Given the description of an element on the screen output the (x, y) to click on. 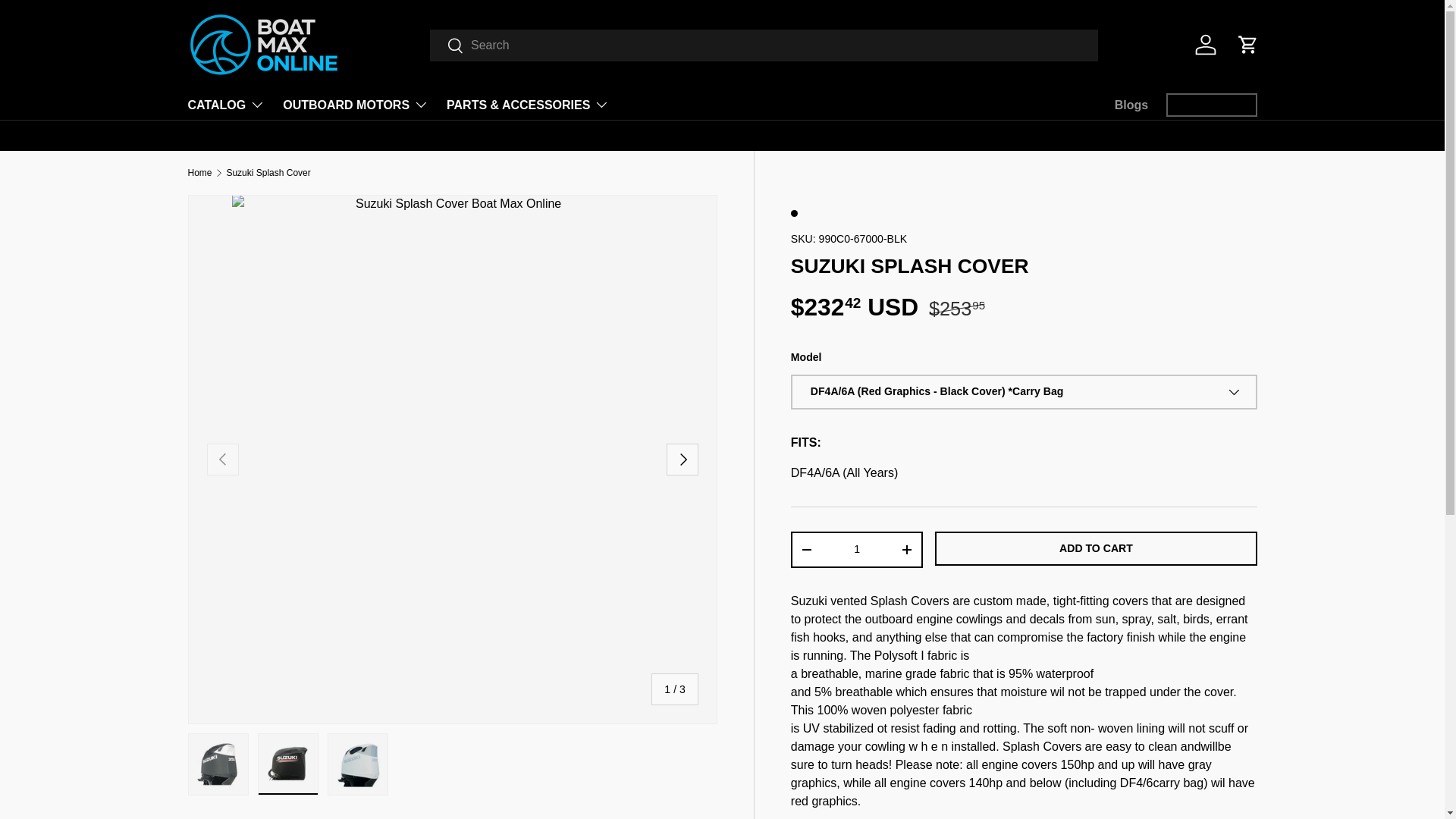
CATALOG (225, 104)
OUTBOARD MOTORS (355, 104)
1 (857, 549)
Log in (1206, 44)
SKIP TO CONTENT (69, 21)
Search (446, 46)
Cart (1248, 44)
